Given the description of an element on the screen output the (x, y) to click on. 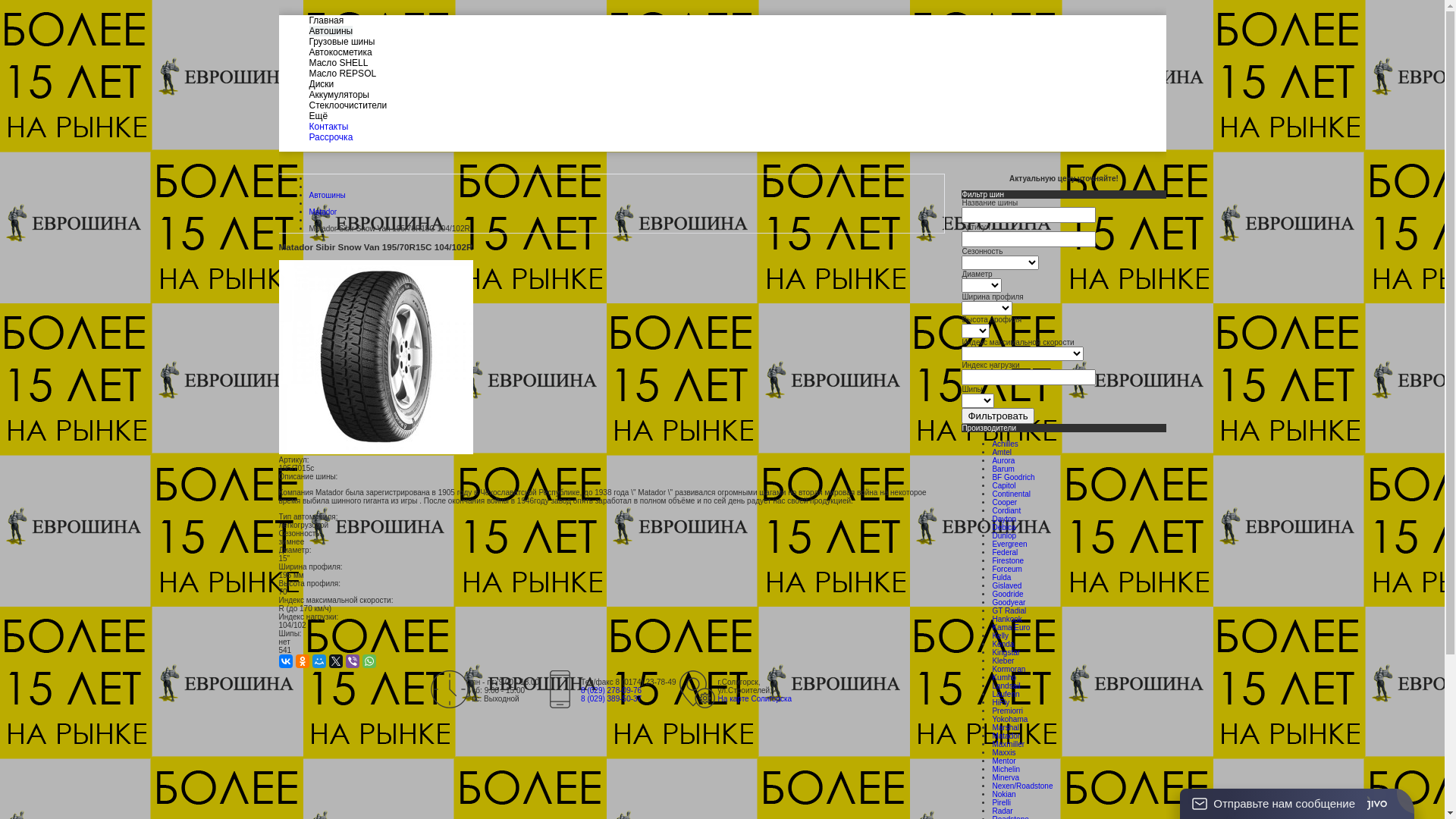
Kingstar Element type: text (1005, 652)
Yokohama Element type: text (1009, 719)
Minerva Element type: text (1005, 777)
Barum Element type: text (1002, 468)
Matador Element type: text (323, 211)
Hankook Element type: text (1006, 619)
Nokian Element type: text (1003, 794)
Premiorri Element type: text (1006, 710)
Maxxis Element type: text (1003, 752)
Maxmiller Element type: text (1007, 744)
WhatsApp Element type: hover (369, 661)
Kama Euro Element type: text (1010, 627)
Capitol Element type: text (1003, 485)
Continental Element type: text (1010, 493)
Radar Element type: text (1001, 810)
GT Radial Element type: text (1008, 610)
Dunlop Element type: text (1003, 535)
Goodyear Element type: text (1008, 602)
Aurora Element type: text (1002, 460)
Cooper Element type: text (1003, 502)
Kumho Element type: text (1003, 677)
Federal Element type: text (1004, 552)
Gislaved Element type: text (1006, 585)
Kormoran Element type: text (1008, 669)
Michelin Element type: text (1005, 769)
BF Goodrich Element type: text (1012, 477)
Laufenn Element type: text (1005, 694)
Dayton Element type: text (1003, 518)
Marshal Element type: text (1005, 727)
Firestone Element type: text (1007, 560)
8 (029) 389-50-37 Element type: text (610, 698)
Kelly Element type: text (999, 635)
Twitter Element type: hover (335, 661)
Matador Element type: text (1005, 735)
Pirelli Element type: text (1000, 802)
Mentor Element type: text (1003, 760)
Forceum Element type: text (1006, 568)
Cordiant Element type: text (1005, 510)
HiFly Element type: text (1000, 702)
Evergreen Element type: text (1008, 543)
Kenda Element type: text (1002, 644)
Landsail Element type: text (1005, 685)
8 (029) 278-09-76 Element type: text (610, 690)
Amtel Element type: text (1001, 452)
Kleber Element type: text (1002, 660)
Fulda Element type: text (1000, 577)
Goodride Element type: text (1006, 593)
Matador Sibir Snow Van 195/70R15C 104/102R Element type: hover (376, 357)
Matador Sibir Snow Van 195/70R15C 104/102R Element type: hover (376, 451)
Nexen/Roadstone Element type: text (1021, 785)
Viber Element type: hover (352, 661)
Debica Element type: text (1003, 527)
Achilles Element type: text (1004, 443)
